Given the description of an element on the screen output the (x, y) to click on. 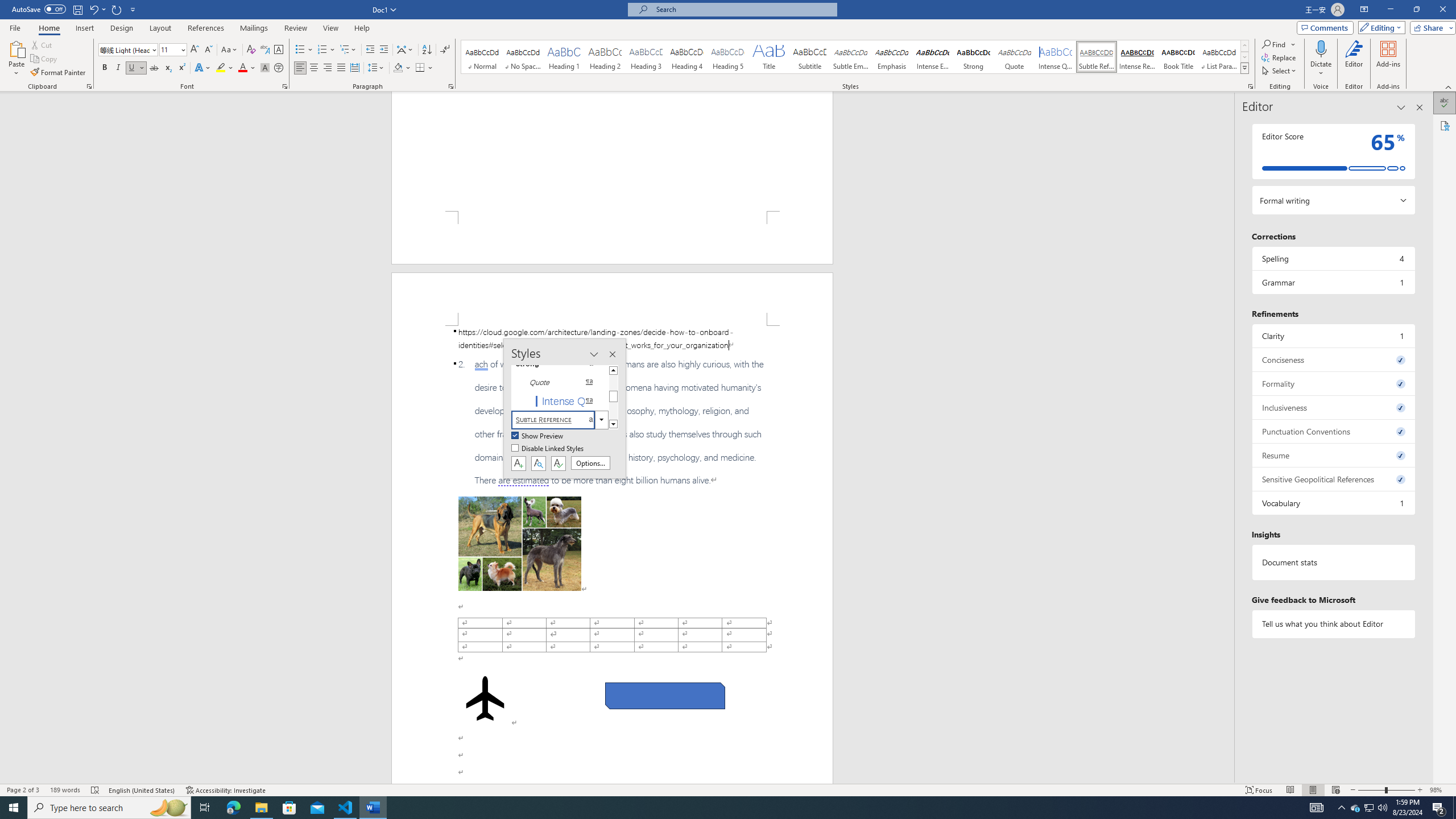
Options... (590, 463)
Copy (45, 58)
Shading (402, 67)
Tell us what you think about Editor (1333, 624)
Heading 1 (564, 56)
Show Preview (537, 436)
Resume, 0 issues. Press space or enter to review items. (1333, 454)
Decrease Indent (370, 49)
Font... (285, 85)
Center (313, 67)
2. (611, 422)
Shrink Font (208, 49)
